Given the description of an element on the screen output the (x, y) to click on. 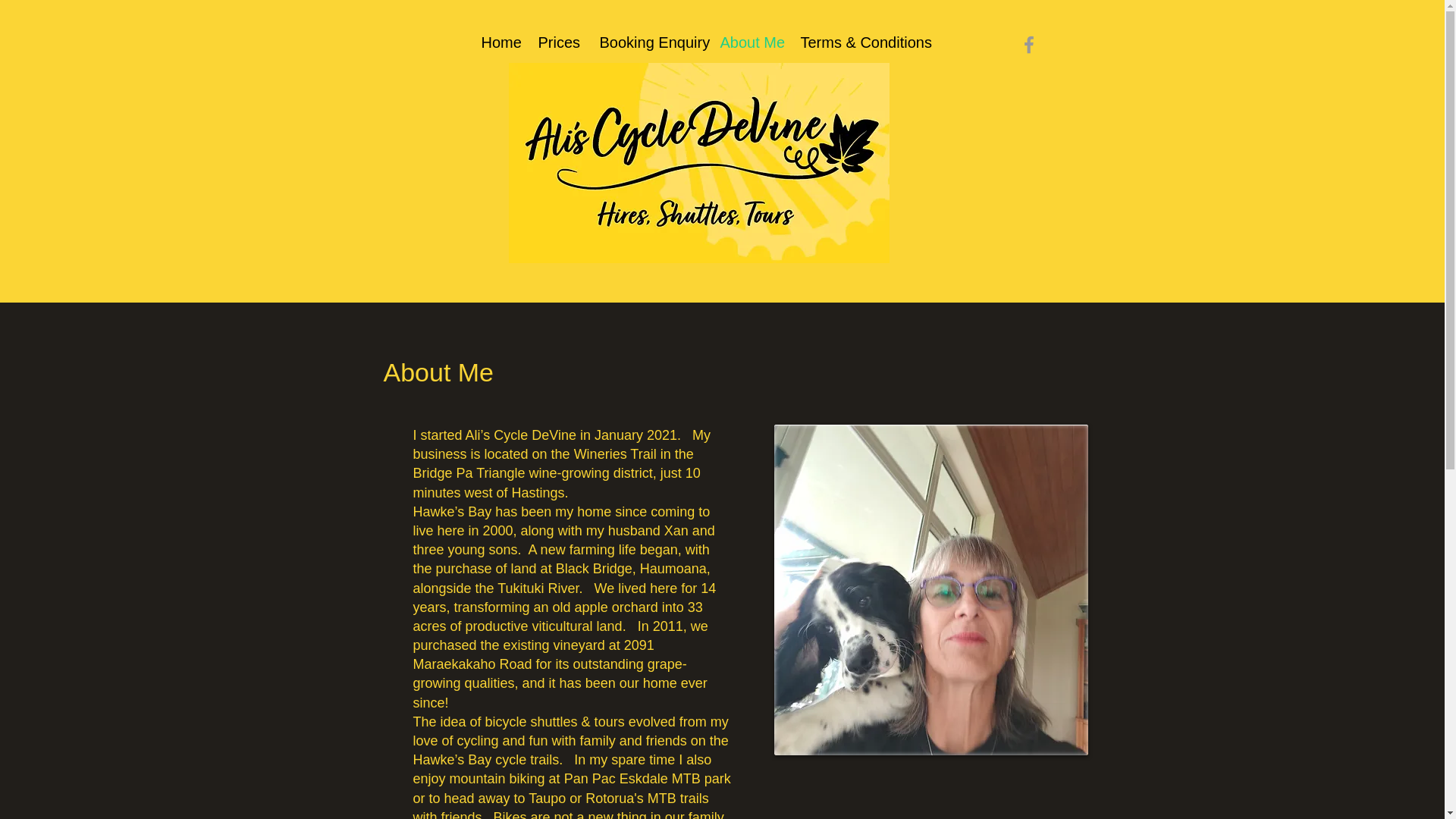
Booking Enquiry (648, 42)
About Me (748, 42)
Prices (556, 42)
Home (498, 42)
